Given the description of an element on the screen output the (x, y) to click on. 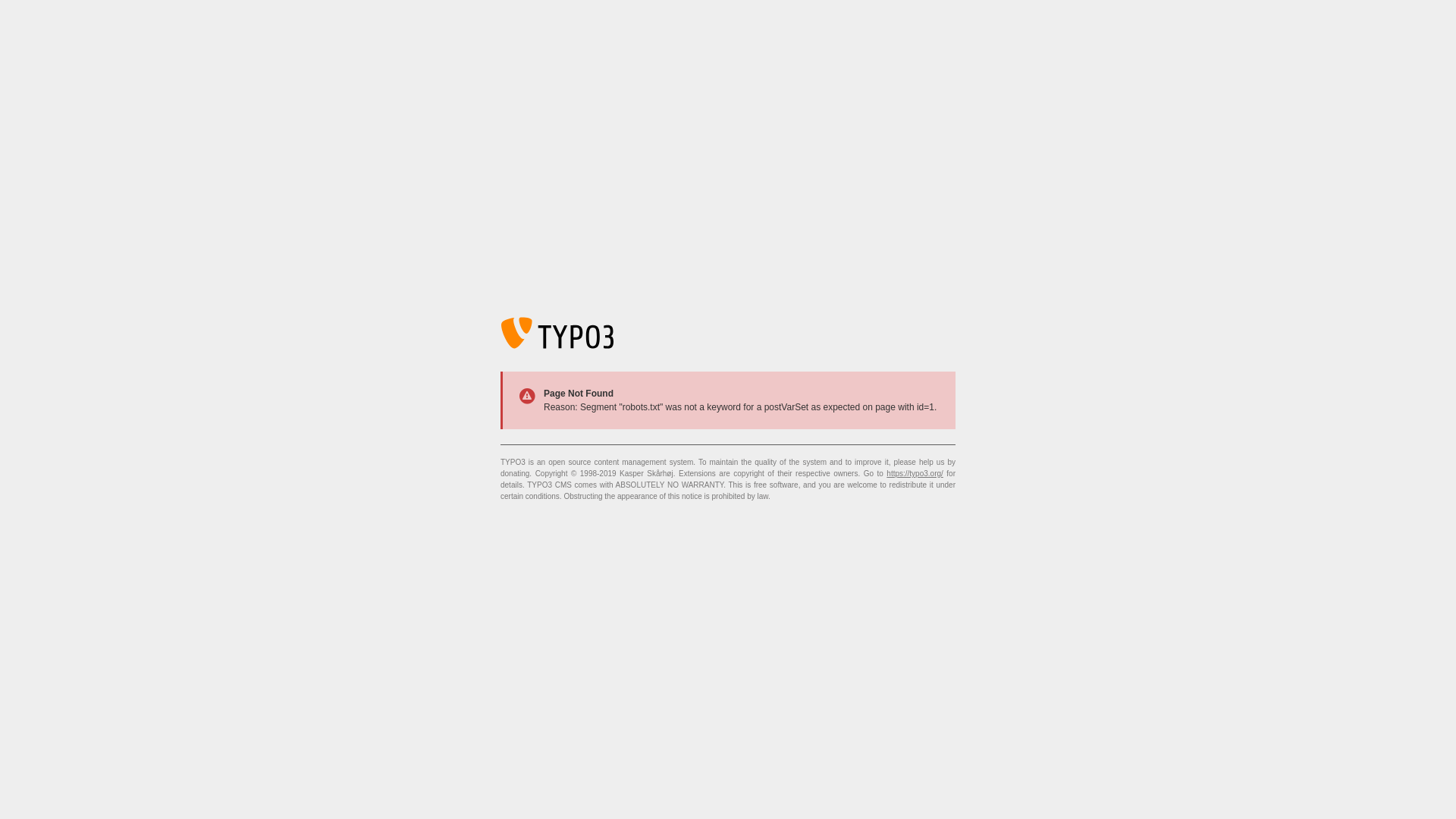
https://typo3.org/ Element type: text (914, 473)
